Given the description of an element on the screen output the (x, y) to click on. 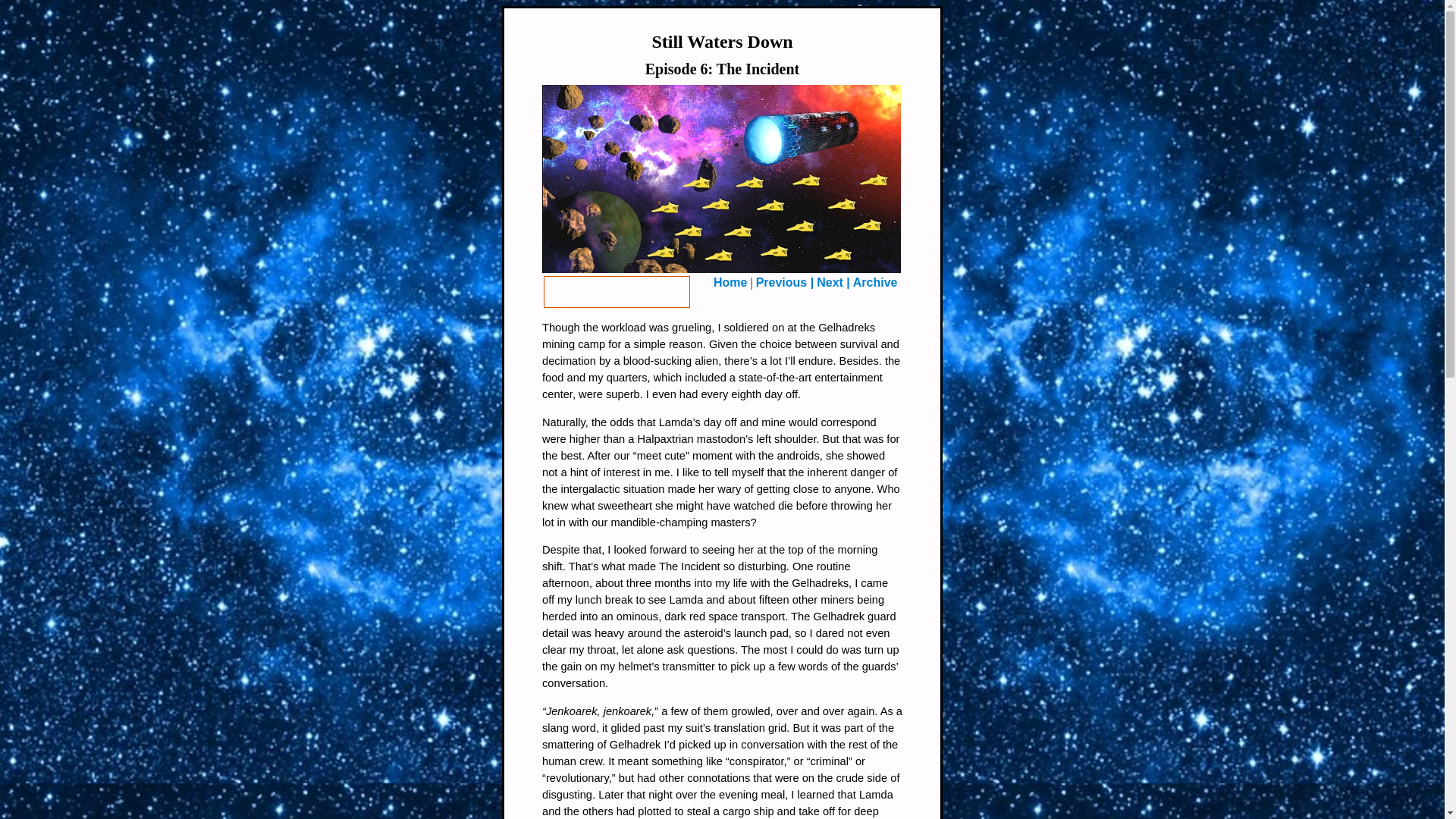
Archive (875, 282)
Home (729, 282)
